Given the description of an element on the screen output the (x, y) to click on. 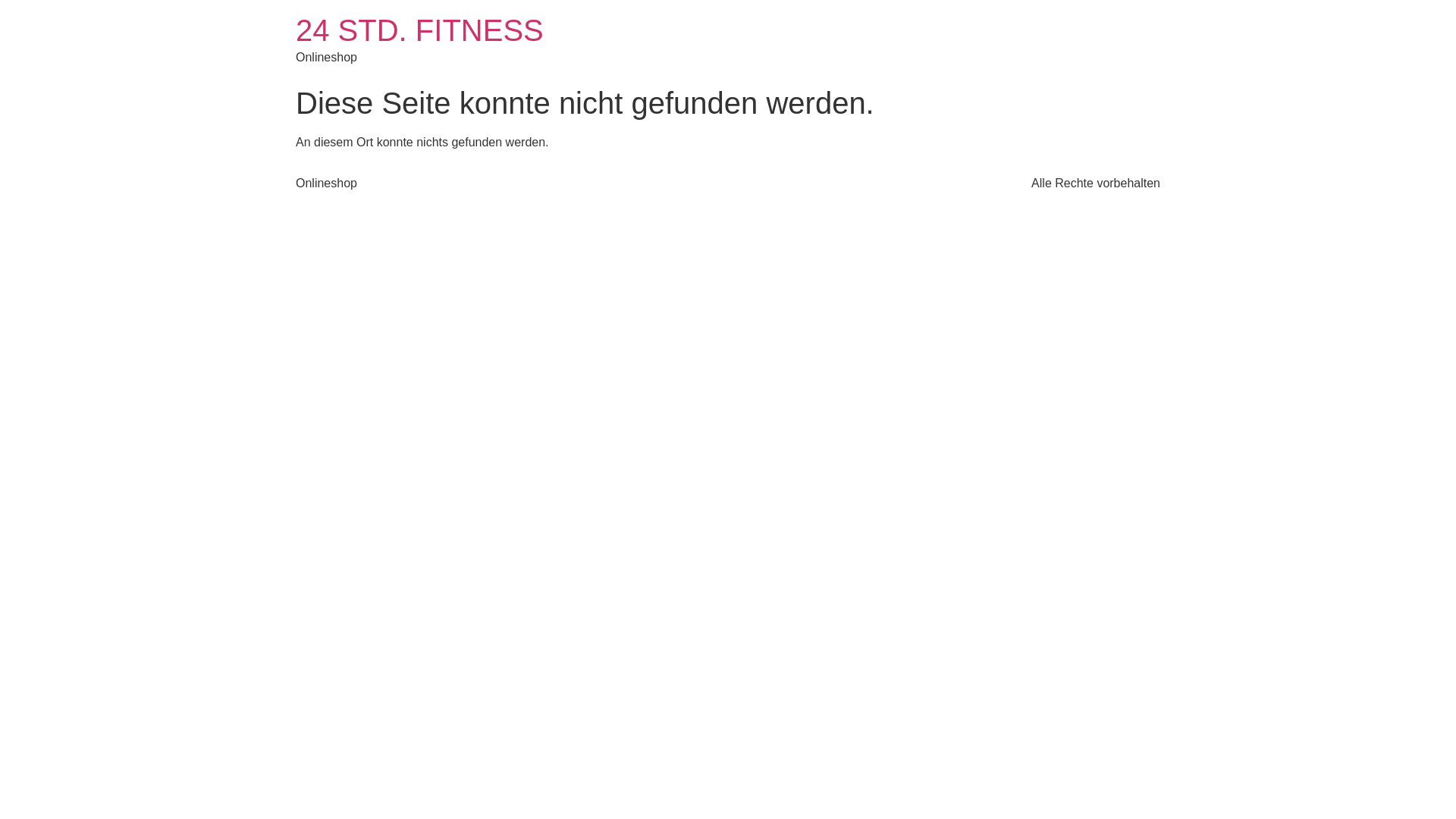
24 STD. FITNESS Element type: text (419, 30)
